Given the description of an element on the screen output the (x, y) to click on. 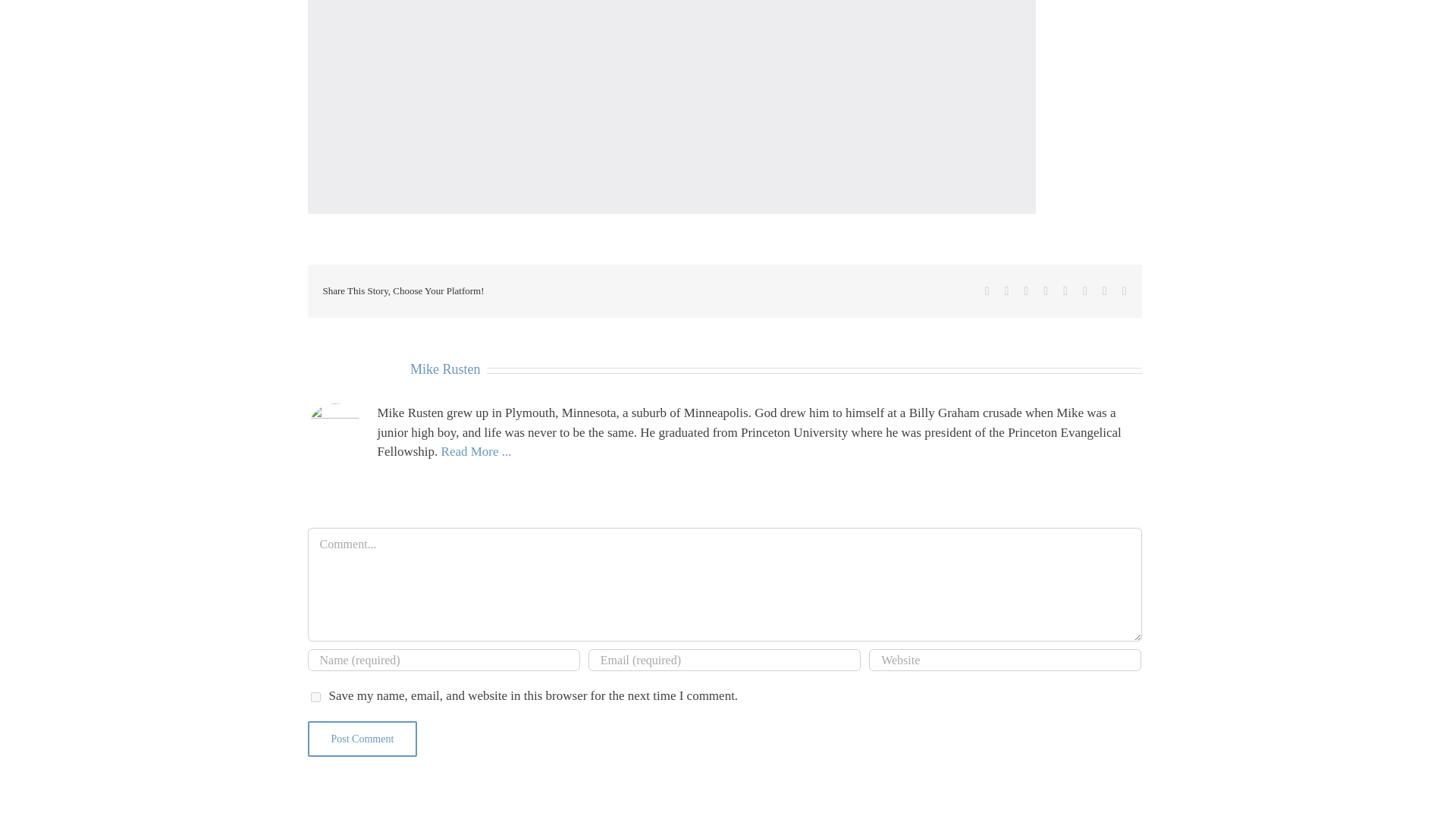
Post Comment (362, 737)
